Given the description of an element on the screen output the (x, y) to click on. 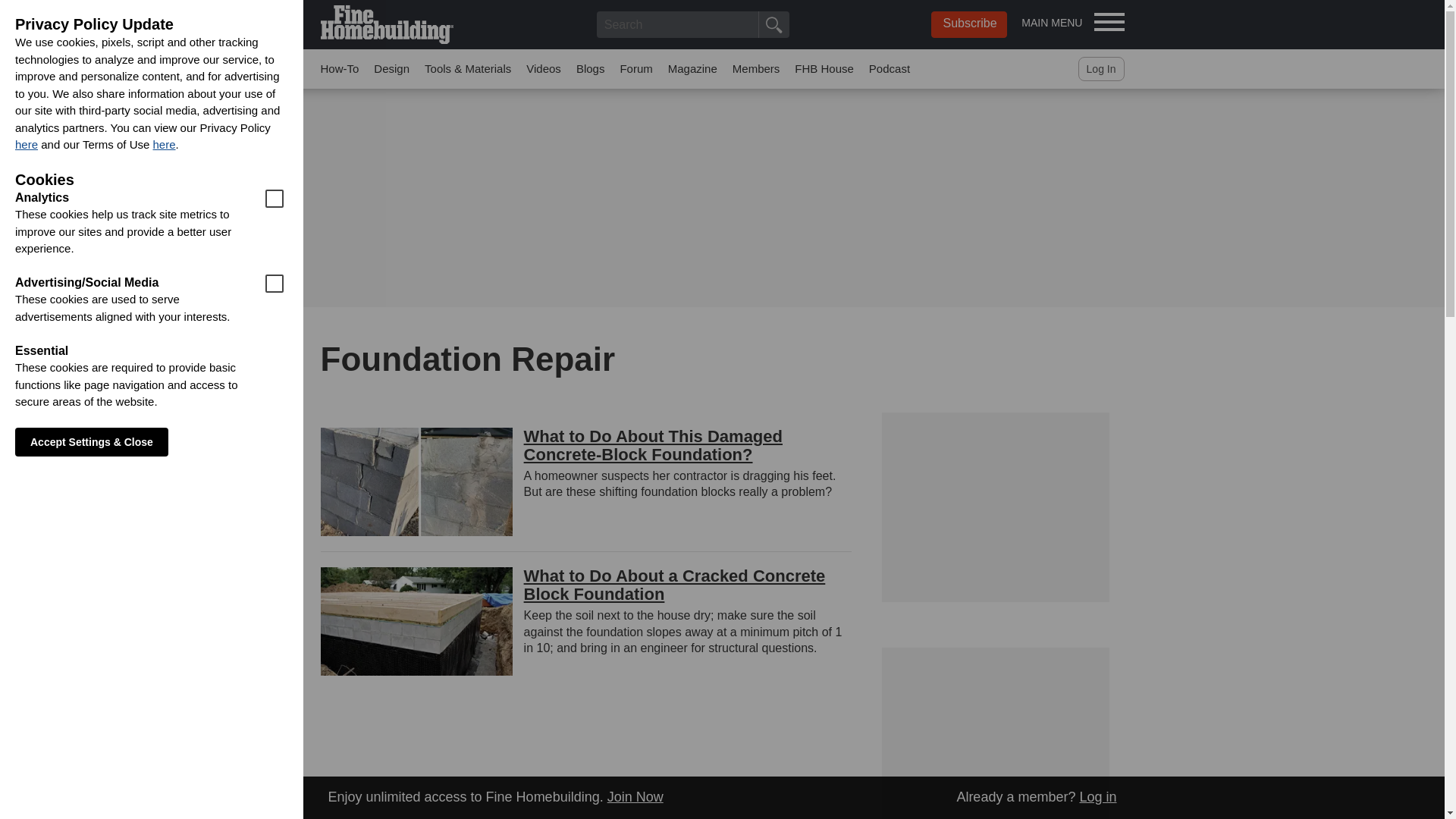
Forum (636, 68)
MAIN MENU (1073, 21)
Design (391, 68)
Members (756, 68)
Subscribe (969, 24)
FHB House (823, 68)
Log In (1101, 68)
How-To (339, 68)
Magazine (692, 68)
Podcast (889, 68)
